Given the description of an element on the screen output the (x, y) to click on. 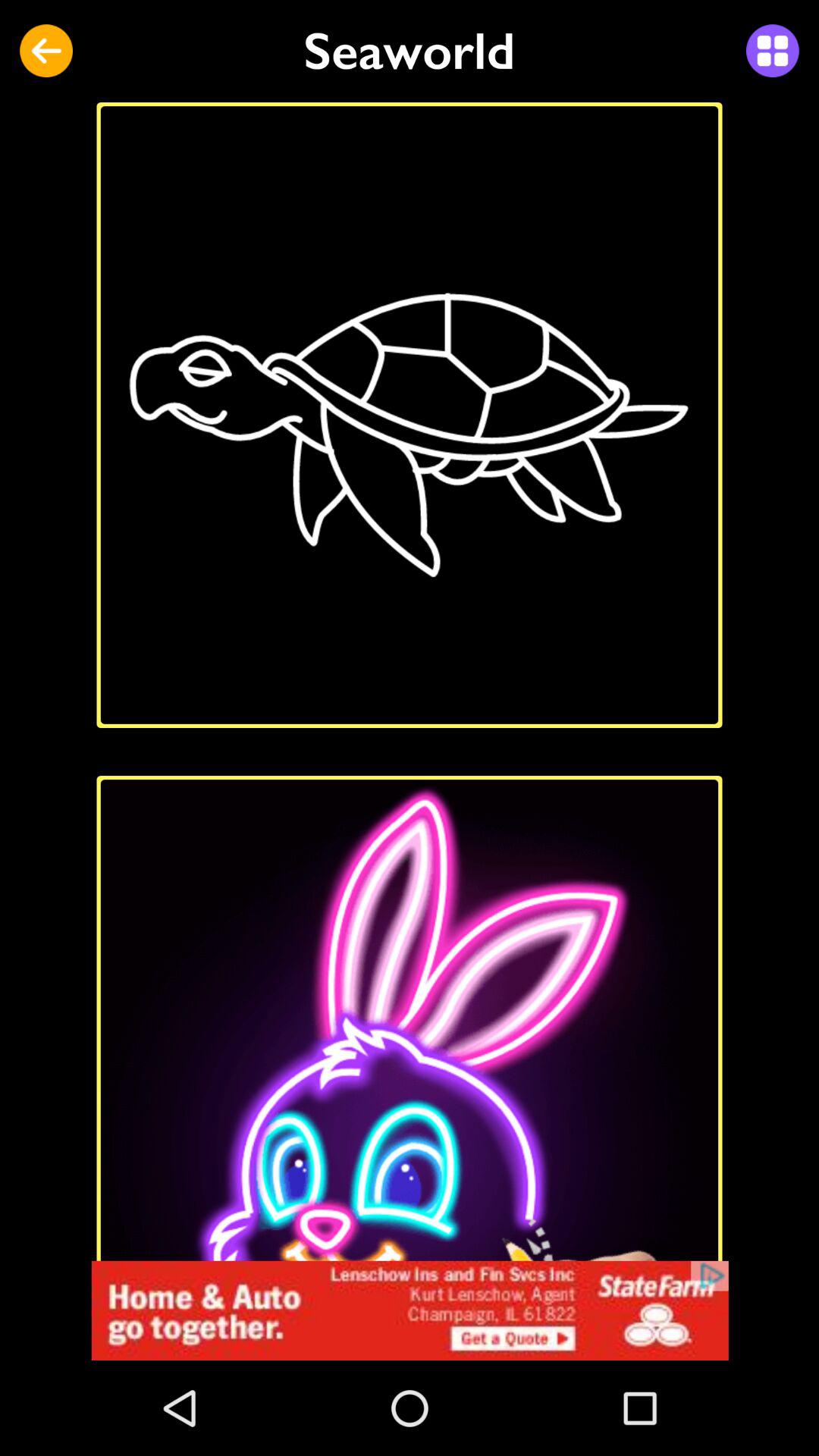
go to home (409, 1310)
